Given the description of an element on the screen output the (x, y) to click on. 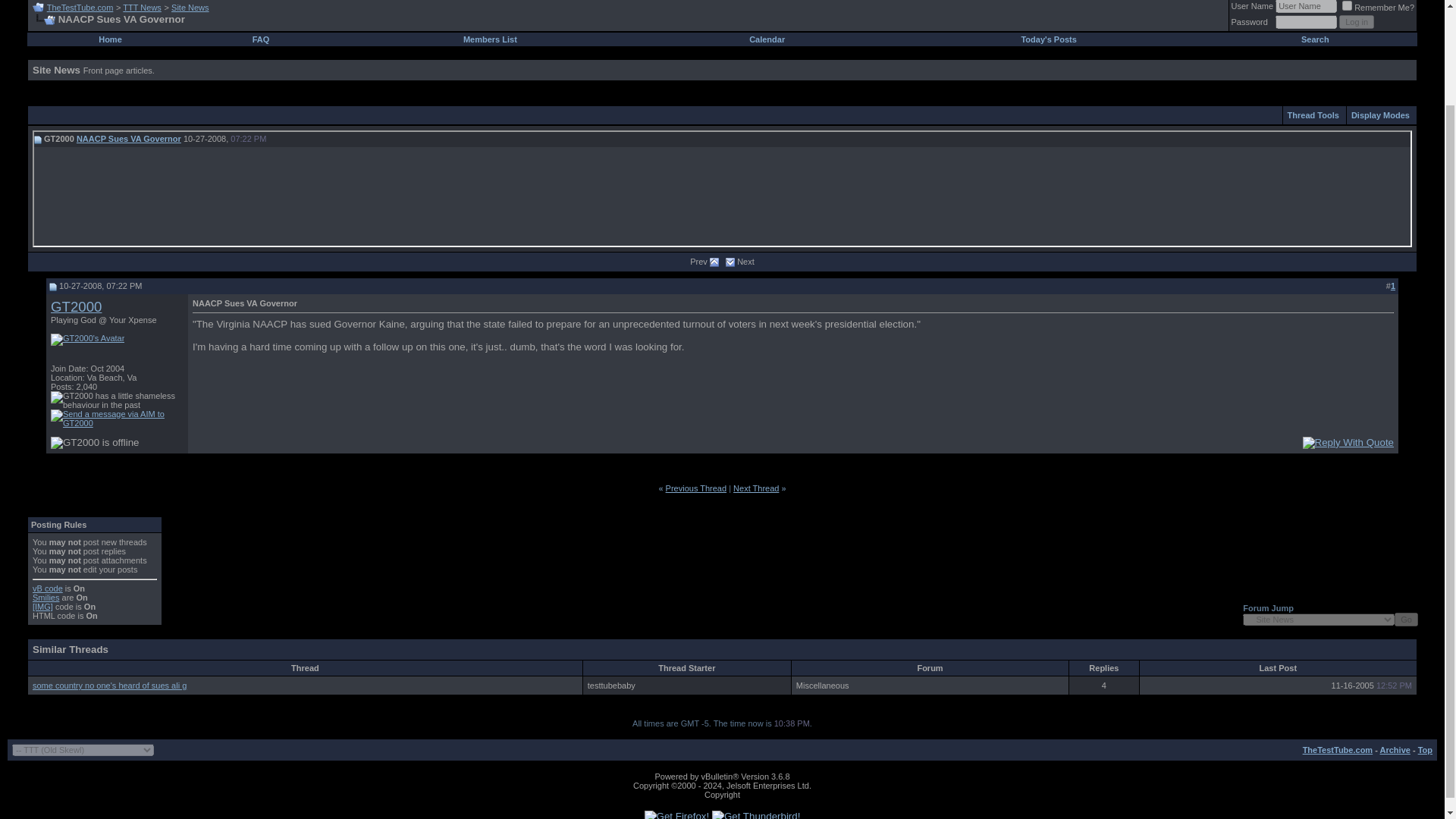
Display Modes (1380, 114)
Search (1315, 39)
Send a message via AIM to GT2000 (116, 418)
FAQ (260, 39)
Log in (1356, 21)
Calendar (766, 39)
Today's Posts (1047, 39)
Home (110, 39)
TheTestTube.com (79, 7)
GT2000 (75, 306)
TTT News (141, 7)
Go (1406, 619)
NAACP Sues VA Governor (128, 138)
Log in (1356, 21)
Reload this Page (43, 19)
